Given the description of an element on the screen output the (x, y) to click on. 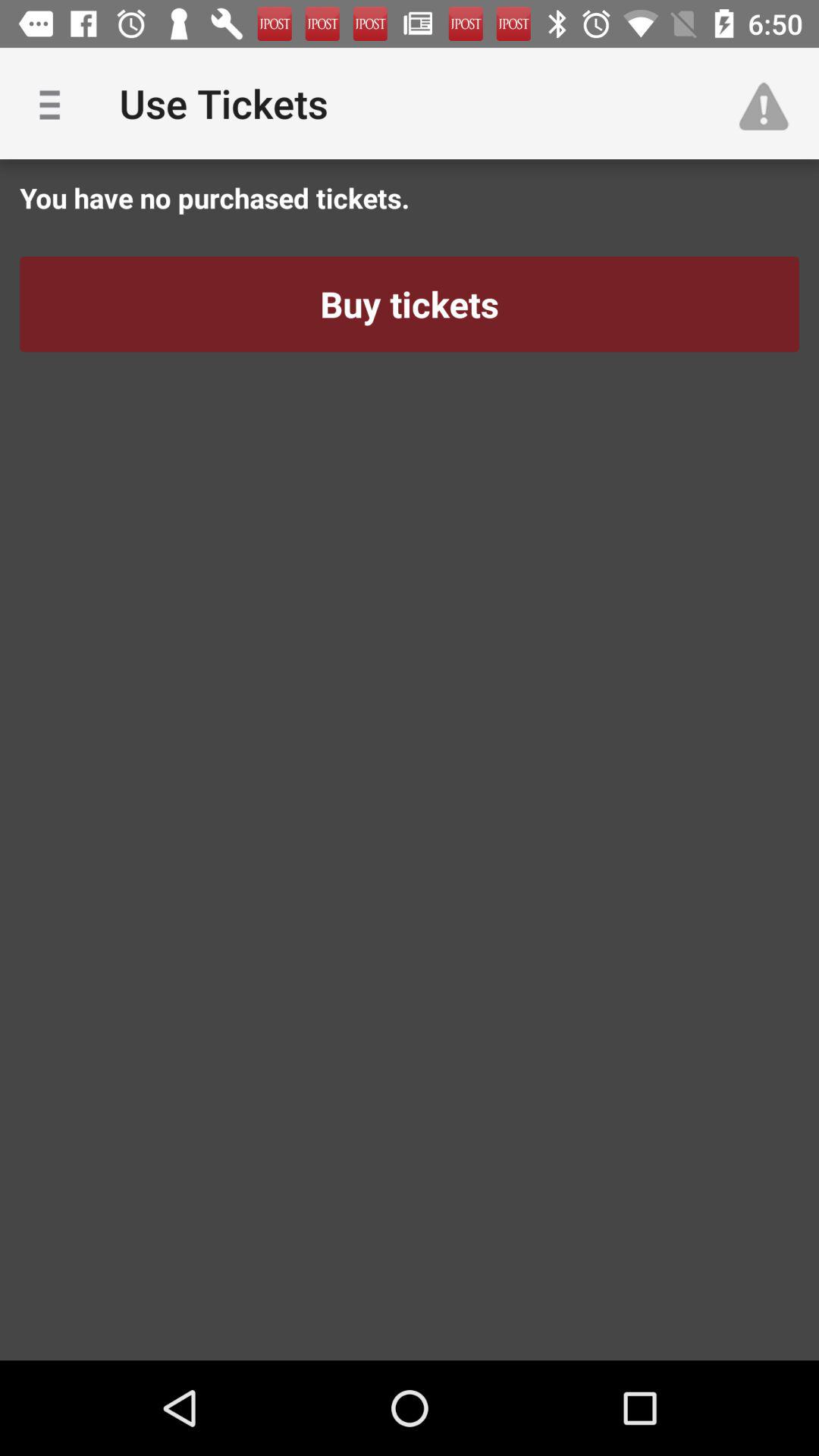
turn off icon to the left of the use tickets icon (55, 103)
